Given the description of an element on the screen output the (x, y) to click on. 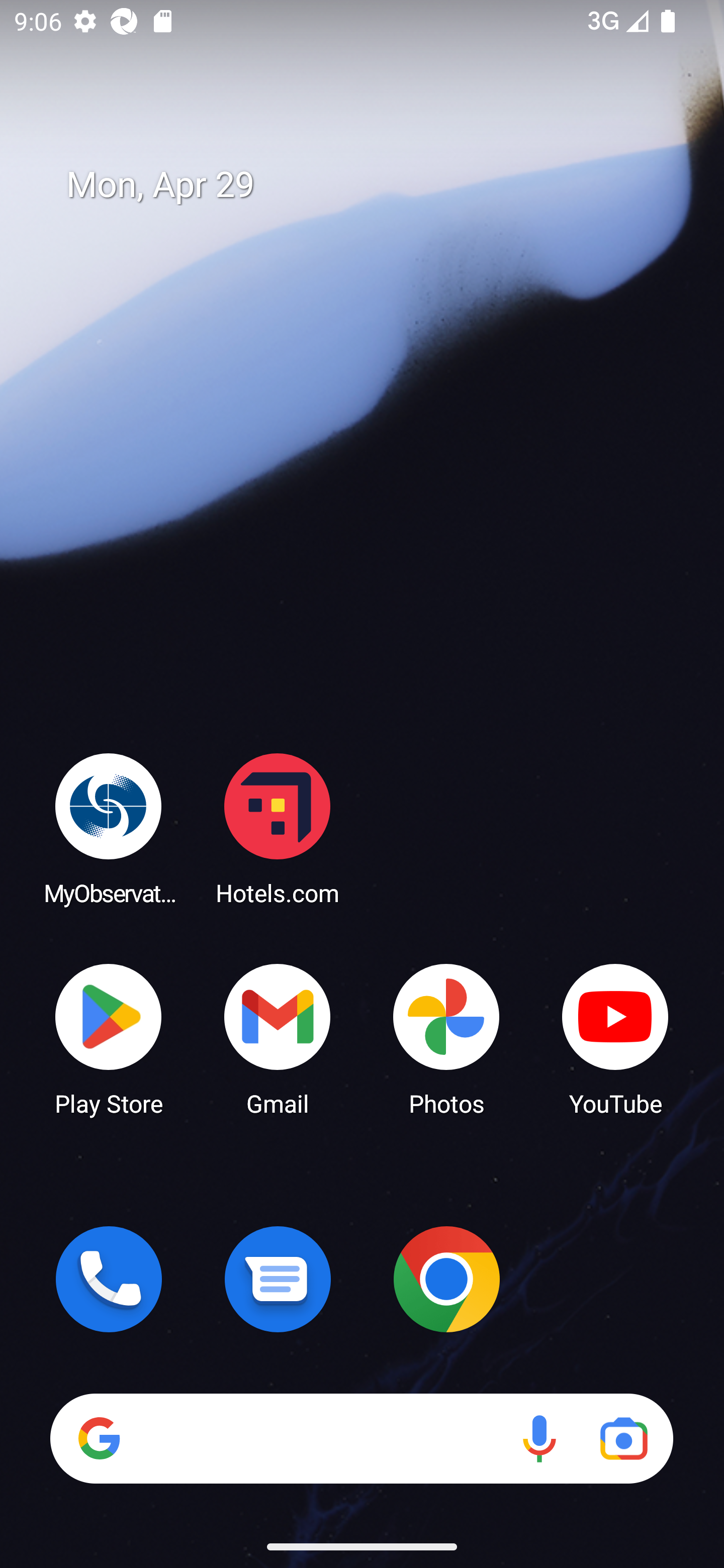
Mon, Apr 29 (375, 184)
MyObservatory (108, 828)
Hotels.com (277, 828)
Play Store (108, 1038)
Gmail (277, 1038)
Photos (445, 1038)
YouTube (615, 1038)
Phone (108, 1279)
Messages (277, 1279)
Chrome (446, 1279)
Search Voice search Google Lens (361, 1438)
Voice search (539, 1438)
Google Lens (623, 1438)
